Given the description of an element on the screen output the (x, y) to click on. 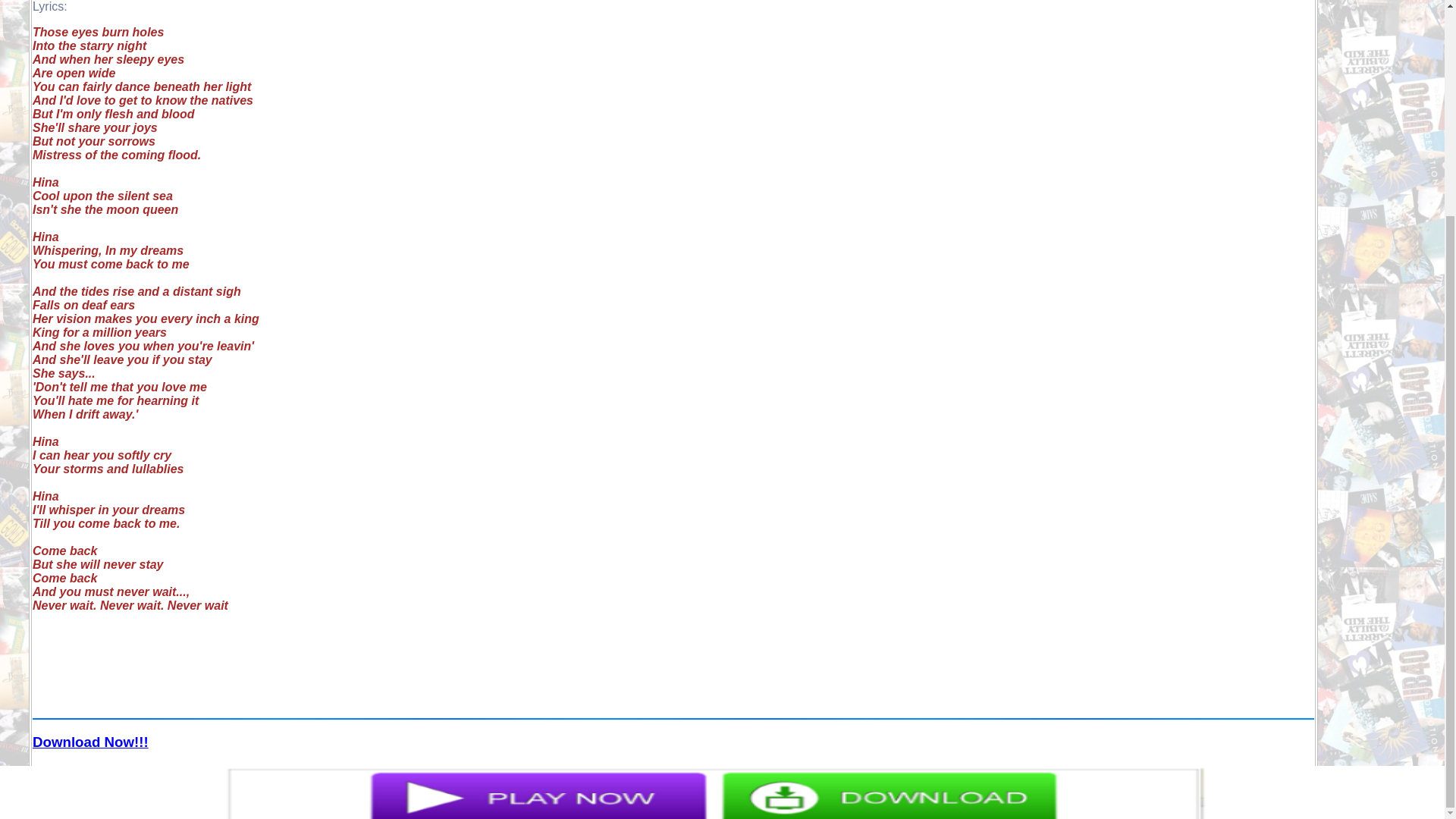
Download Now!!! (90, 741)
